Given the description of an element on the screen output the (x, y) to click on. 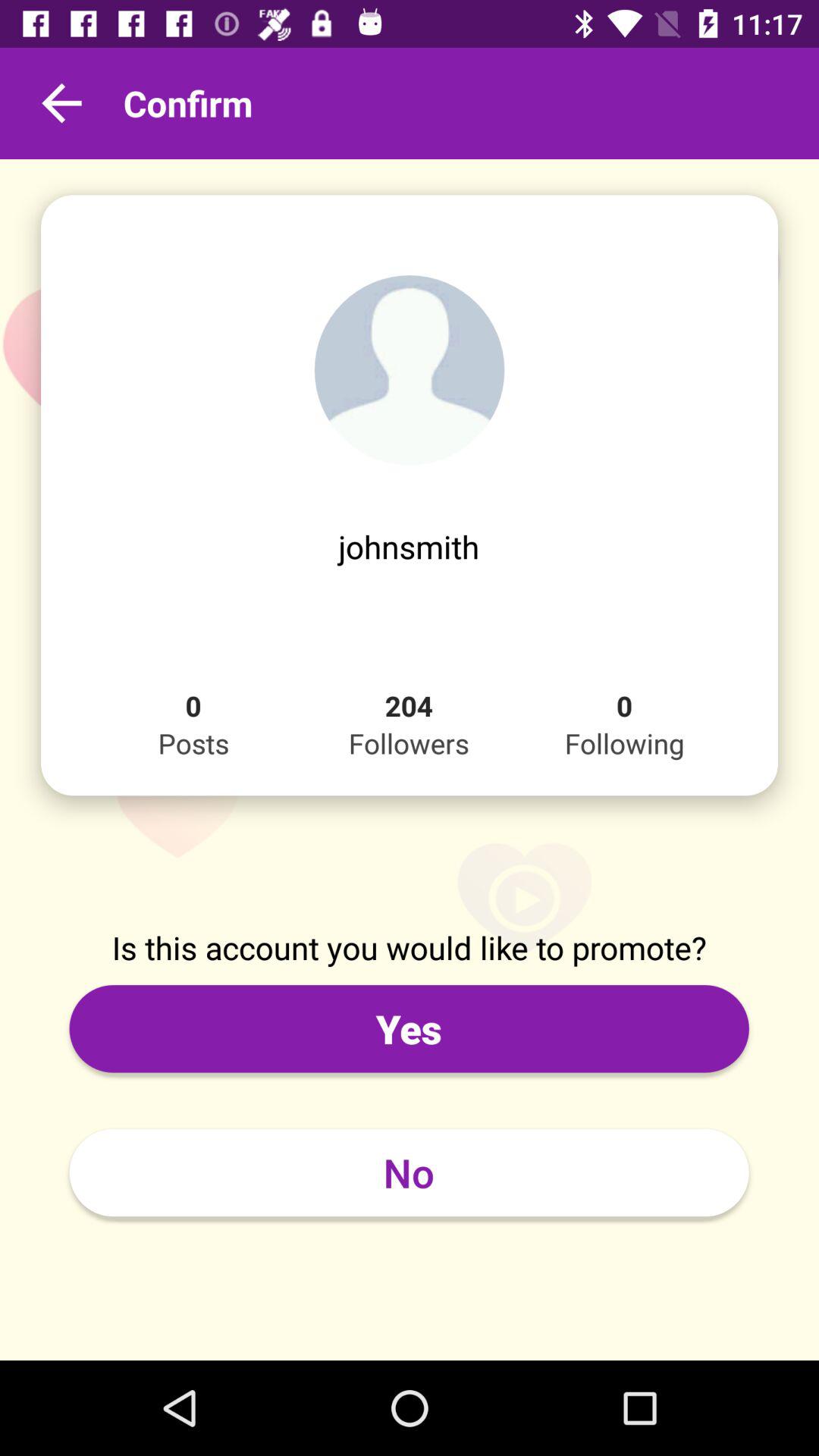
flip until yes item (409, 1028)
